Given the description of an element on the screen output the (x, y) to click on. 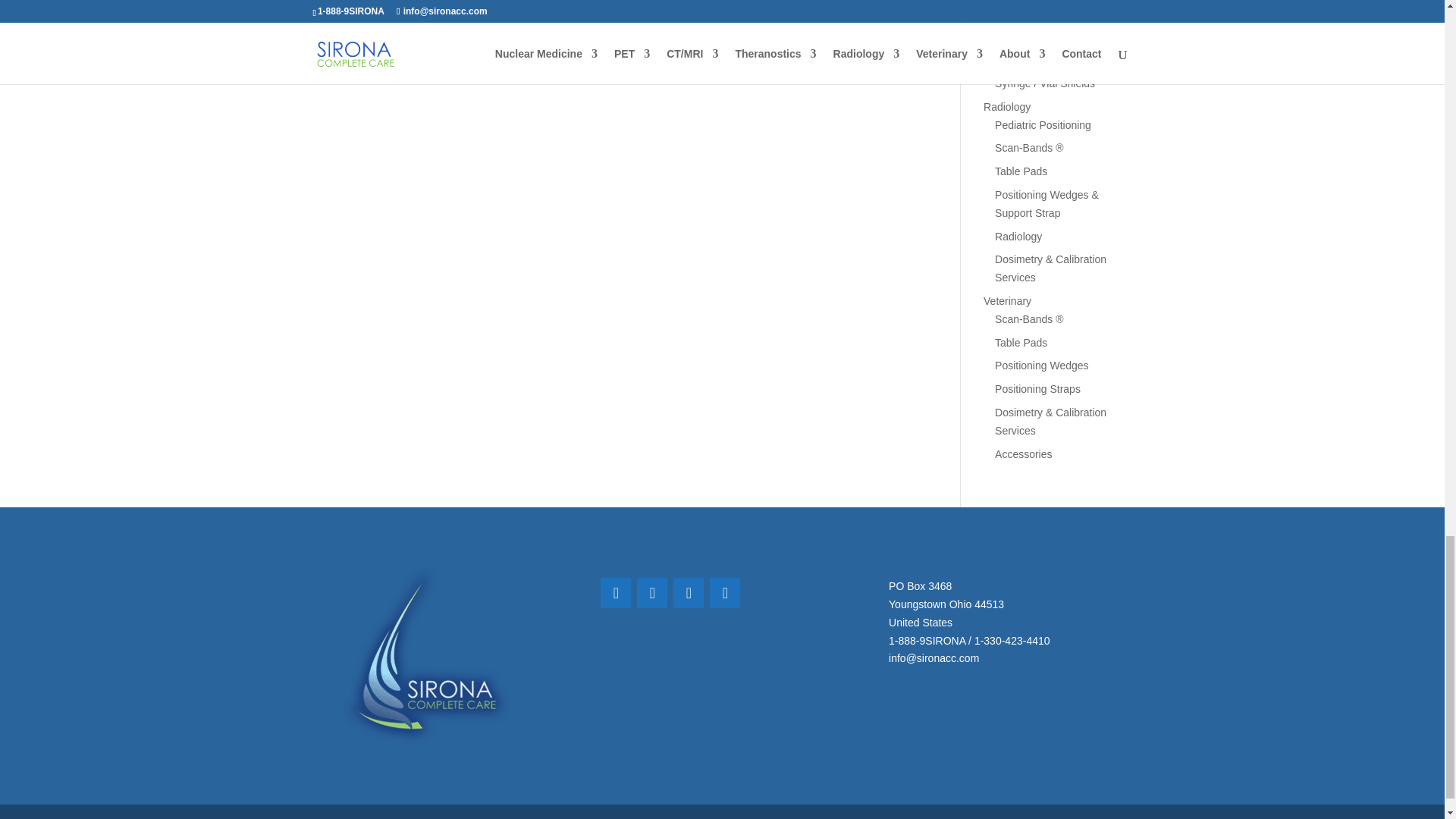
Facebook (614, 593)
Twitter (651, 593)
Instagram (724, 593)
LinkedIn (687, 593)
